Given the description of an element on the screen output the (x, y) to click on. 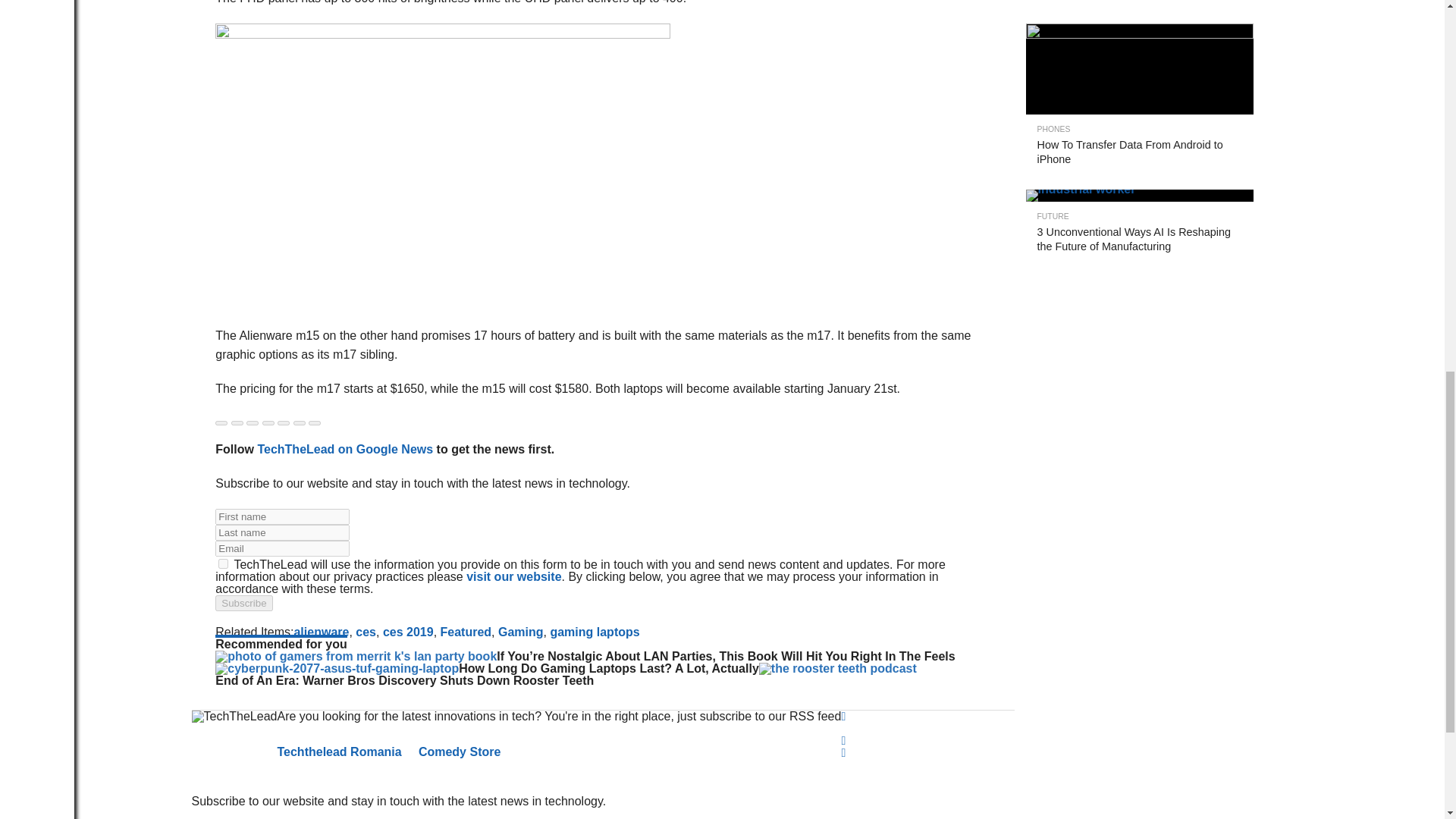
1 (223, 563)
How Long Do Gaming Laptops Last? A Lot, Actually (336, 667)
Subscribe (243, 602)
